Given the description of an element on the screen output the (x, y) to click on. 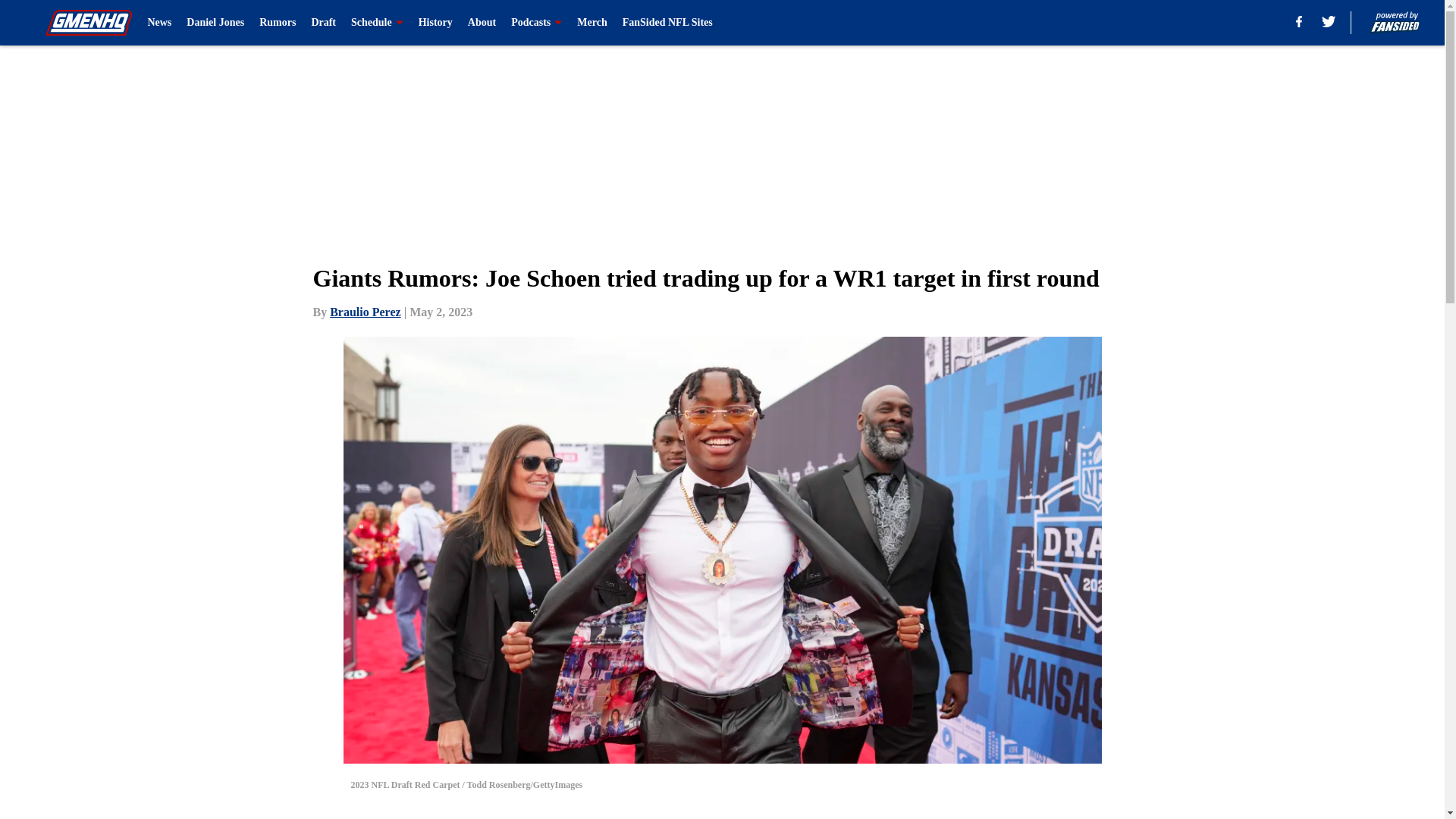
History (435, 22)
Rumors (277, 22)
Daniel Jones (215, 22)
Braulio Perez (365, 311)
Draft (323, 22)
News (159, 22)
FanSided NFL Sites (668, 22)
Merch (591, 22)
About (481, 22)
